Given the description of an element on the screen output the (x, y) to click on. 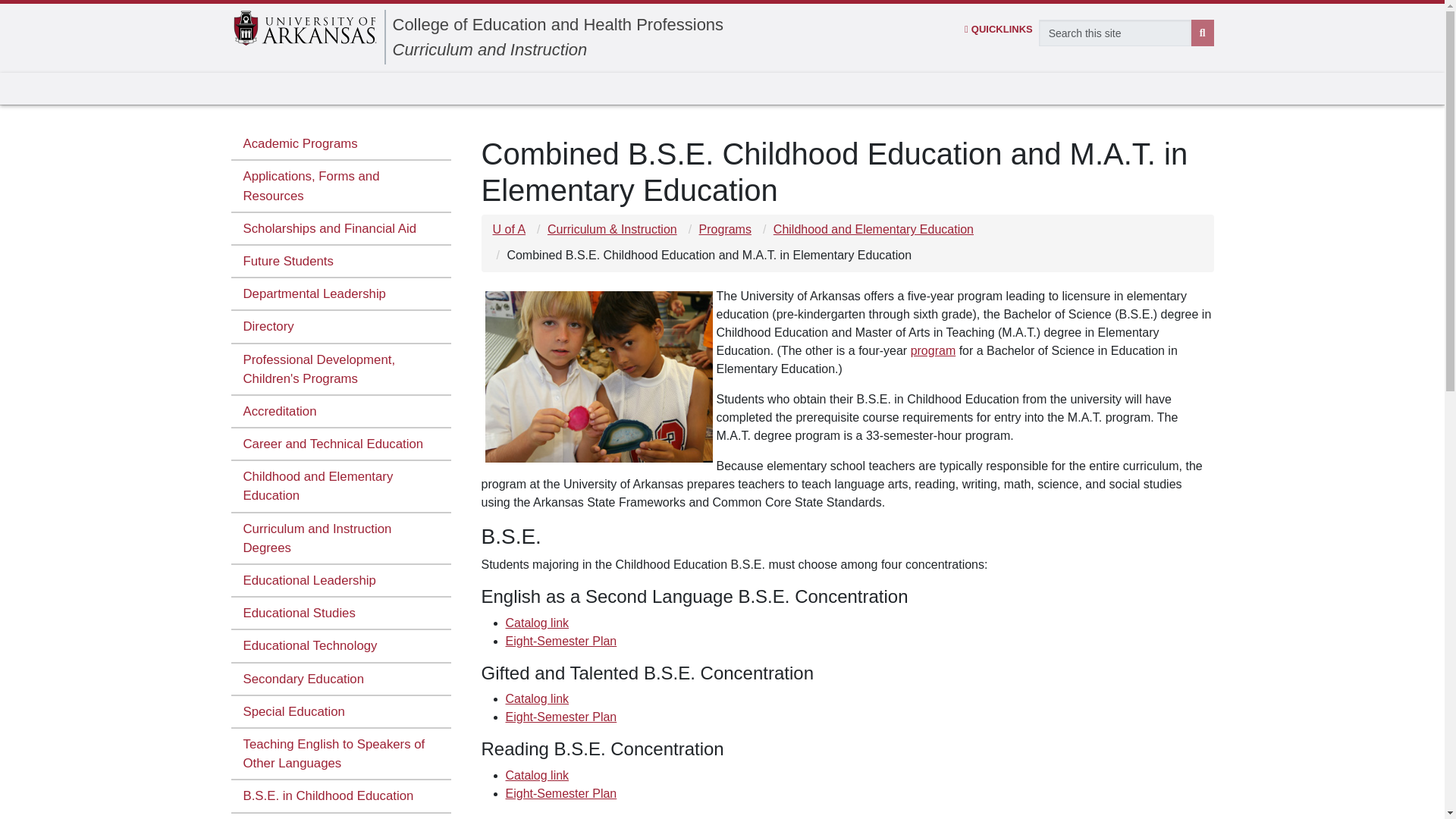
College of Education and Health Professions (558, 24)
Educational Studies (339, 613)
Educational Leadership (339, 581)
Applications, Forms and Resources (339, 186)
Scholarships and Financial Aid (339, 228)
College of Education and Health Professions (558, 24)
Accreditation (339, 411)
QUICKLINKS (997, 29)
Future Students (339, 261)
Educational Technology (339, 645)
